Given the description of an element on the screen output the (x, y) to click on. 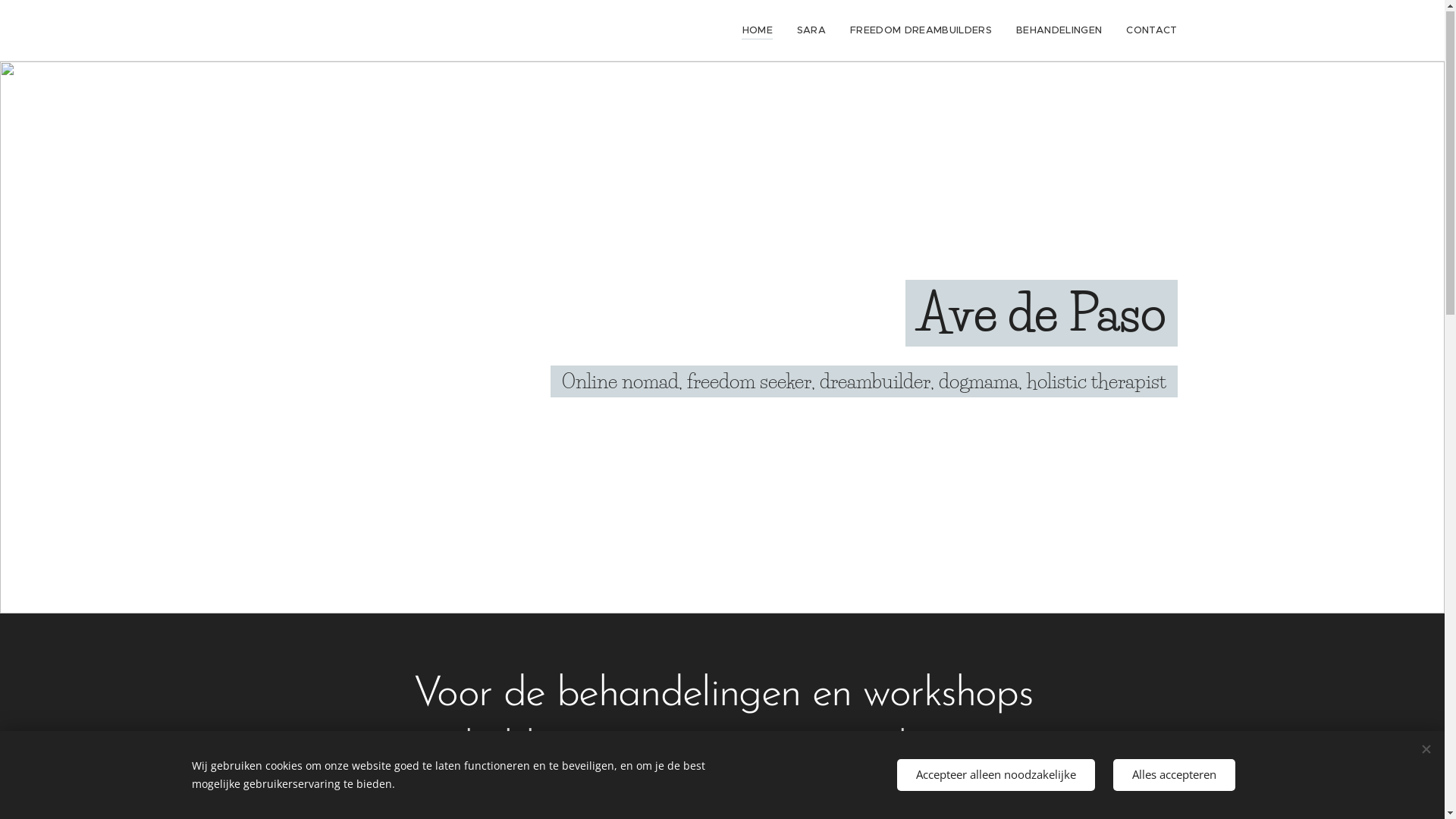
FREEDOM DREAMBUILDERS Element type: text (920, 31)
Accepteer alleen noodzakelijke Element type: text (995, 774)
Alles accepteren Element type: text (1174, 774)
CONTACT Element type: text (1144, 31)
BEHANDELINGEN Element type: text (1058, 31)
SARA Element type: text (810, 31)
HOME Element type: text (761, 31)
